Given the description of an element on the screen output the (x, y) to click on. 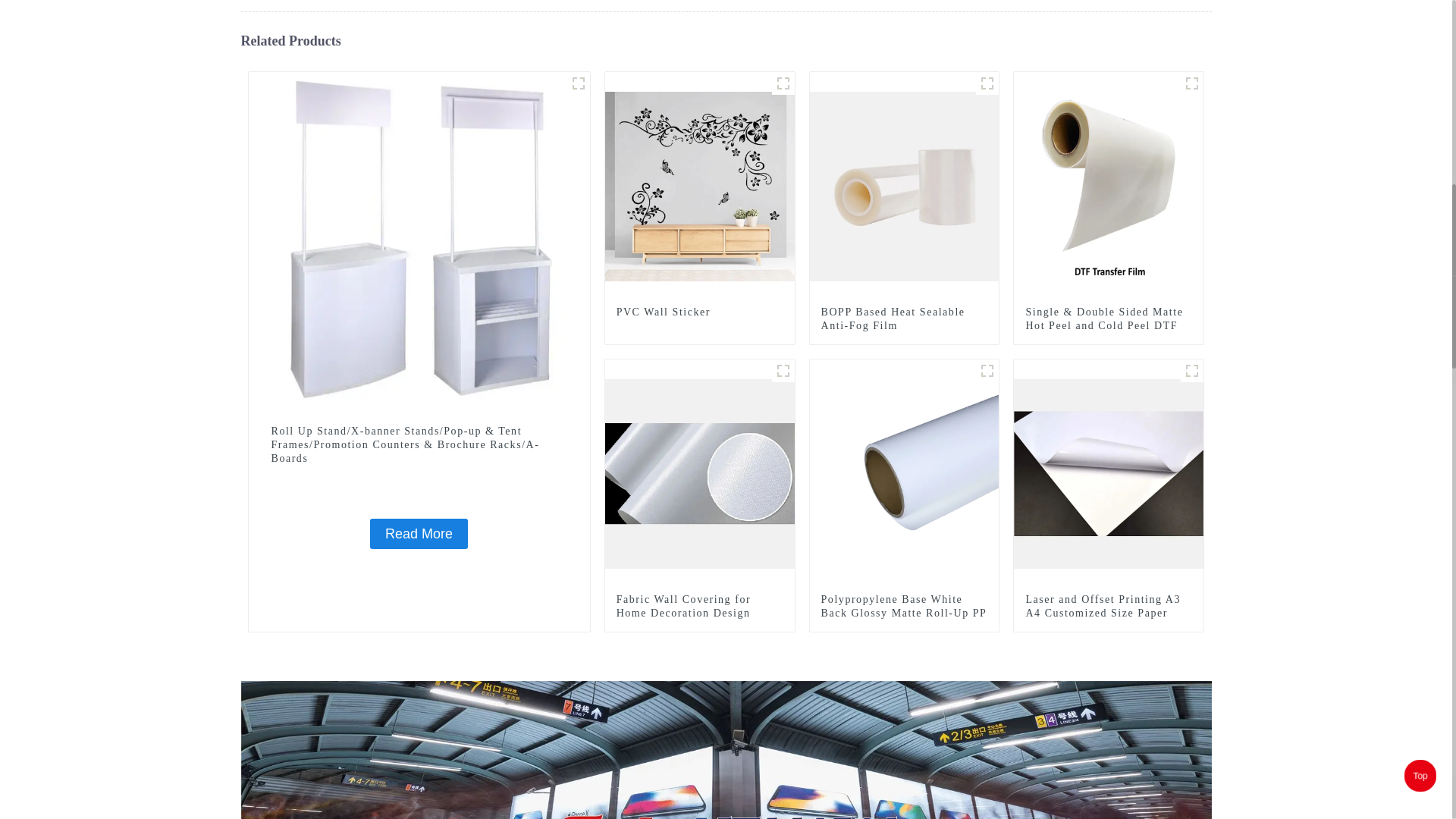
Anti-Fog Film 1 (986, 82)
BOPP Based Heat Sealable Anti-Fog Film (904, 318)
Fabric Wall Covering for Home Decoration Design (699, 472)
PVC Wall Sticker (699, 184)
PVC Wall Sticker (782, 82)
BOPP Based Heat Sealable Anti-Fog Film (903, 184)
Polypropylene Base White Back Glossy Matte Roll-Up PP Banner (904, 612)
Polypropylene Base White Back Glossy Matte Roll-Up PP Banner (903, 472)
PVC Wall Sticker (699, 311)
